Given the description of an element on the screen output the (x, y) to click on. 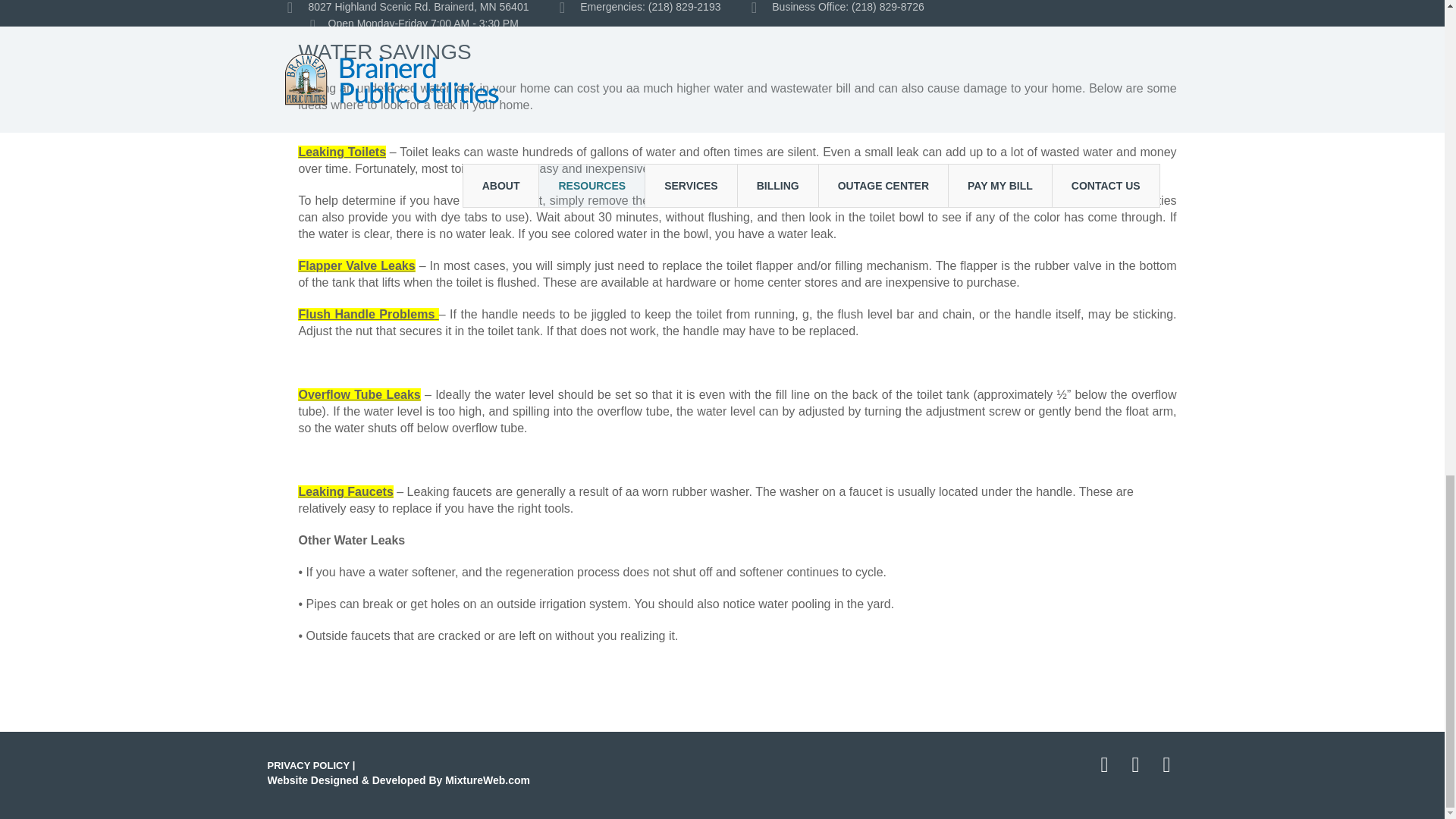
Facebook (1104, 764)
